Given the description of an element on the screen output the (x, y) to click on. 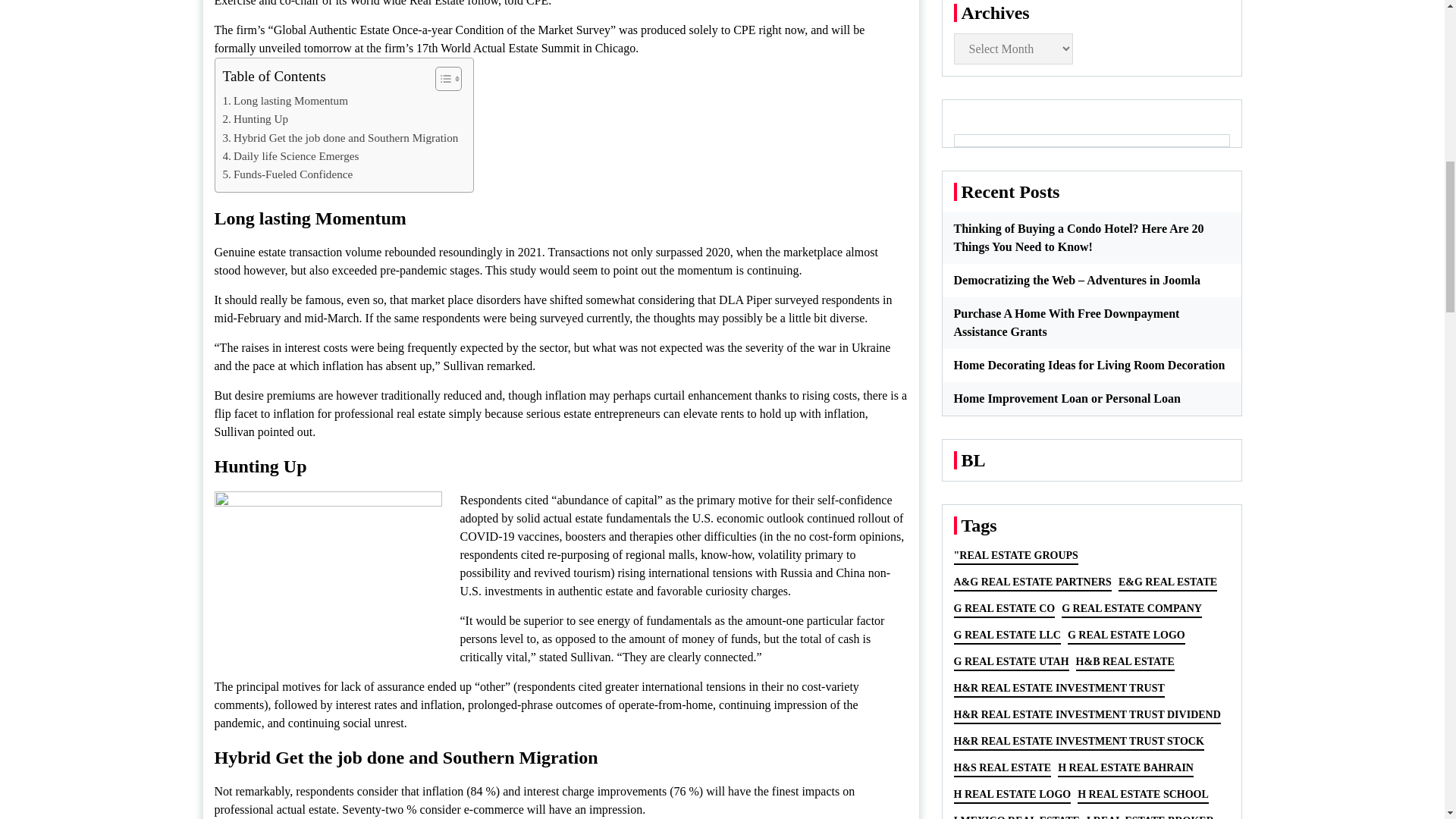
Funds-Fueled Confidence (287, 174)
Long lasting Momentum (284, 100)
Hybrid Get the job done and Southern Migration (340, 137)
Hunting Up (255, 118)
Daily life Science Emerges (290, 156)
